Given the description of an element on the screen output the (x, y) to click on. 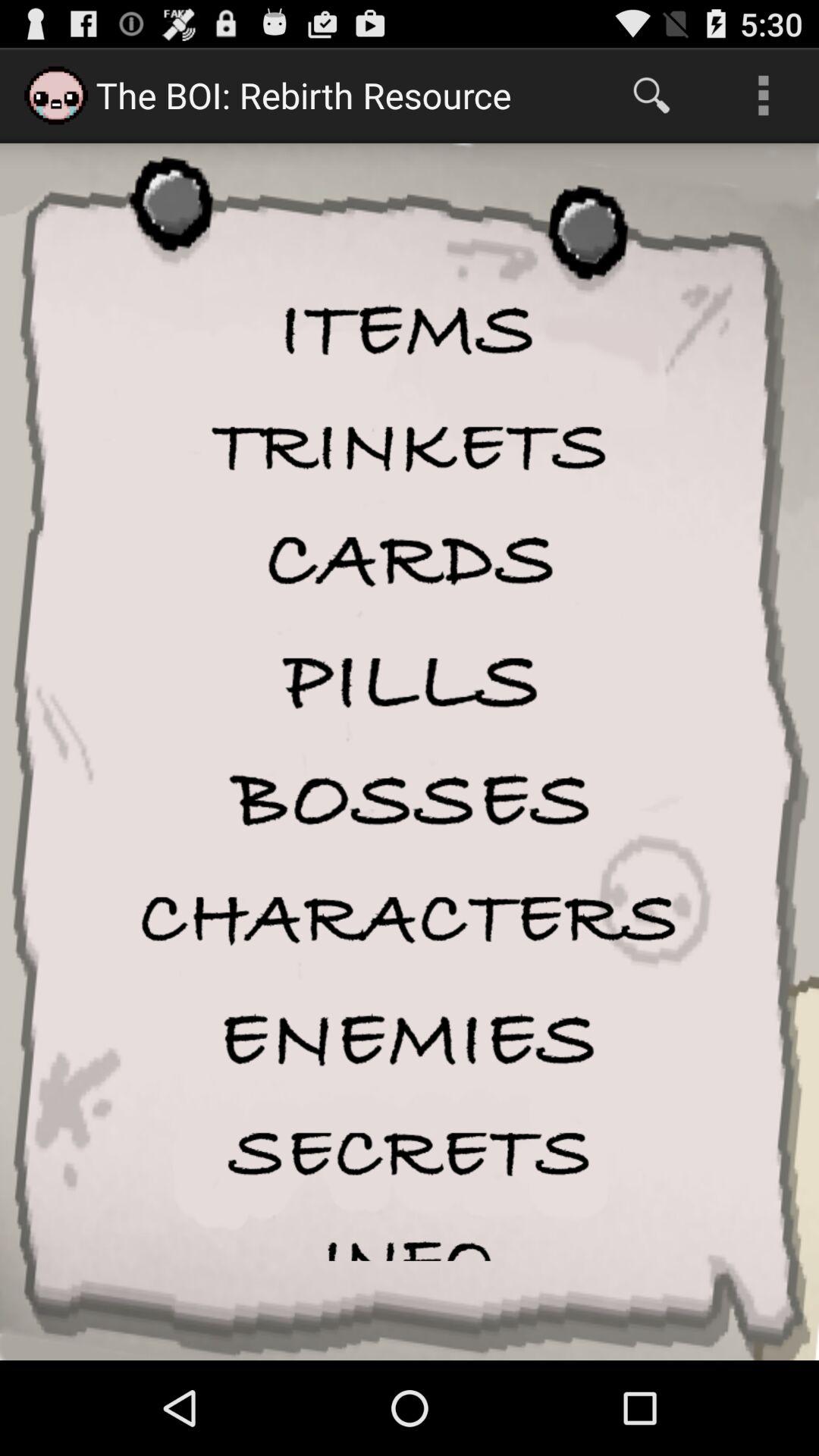
enemies button (409, 1039)
